Given the description of an element on the screen output the (x, y) to click on. 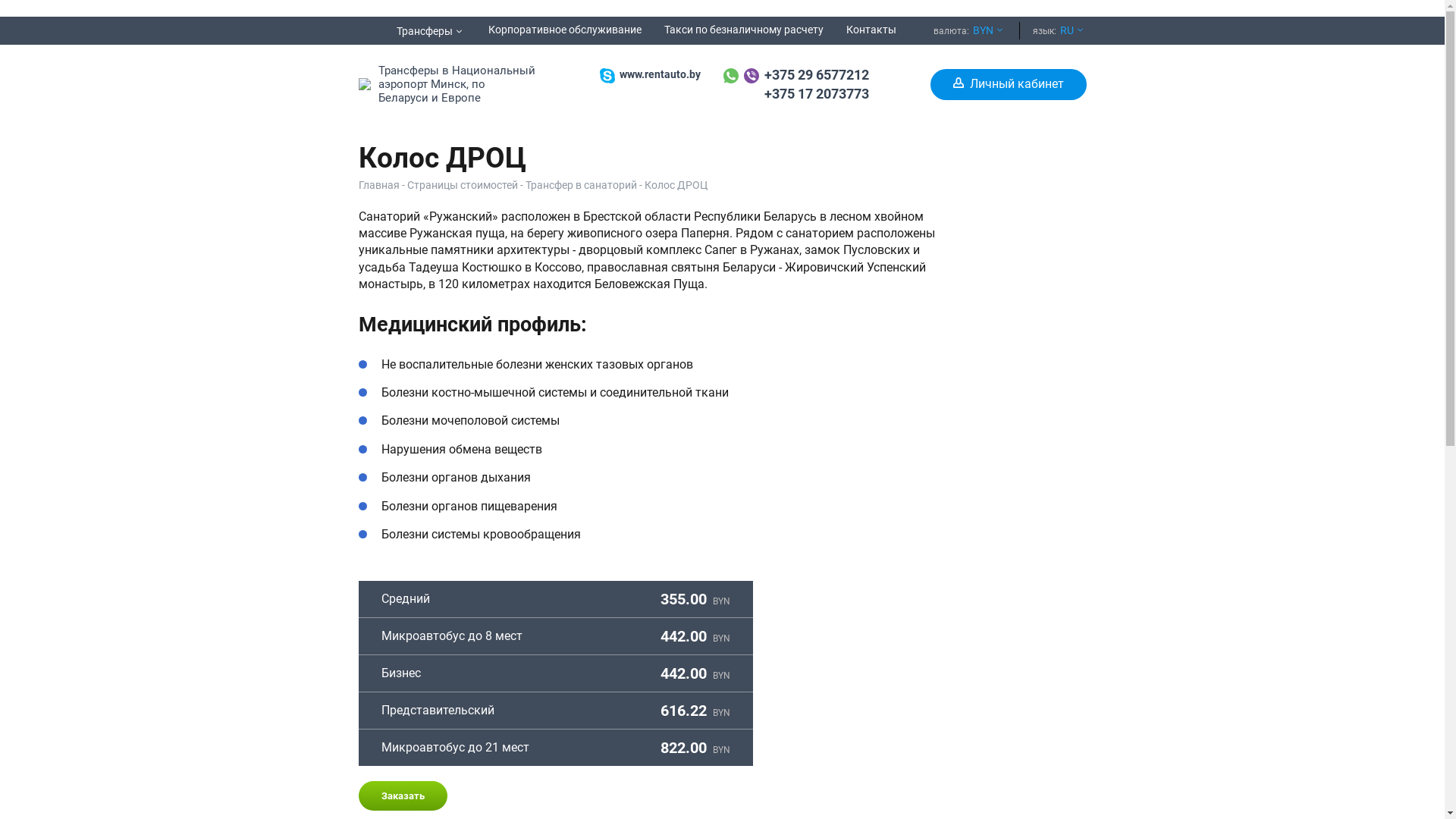
www.rentauto.by Element type: text (659, 74)
+375 29 6577212 Element type: text (816, 74)
+375 17 2073773 Element type: text (816, 93)
